Given the description of an element on the screen output the (x, y) to click on. 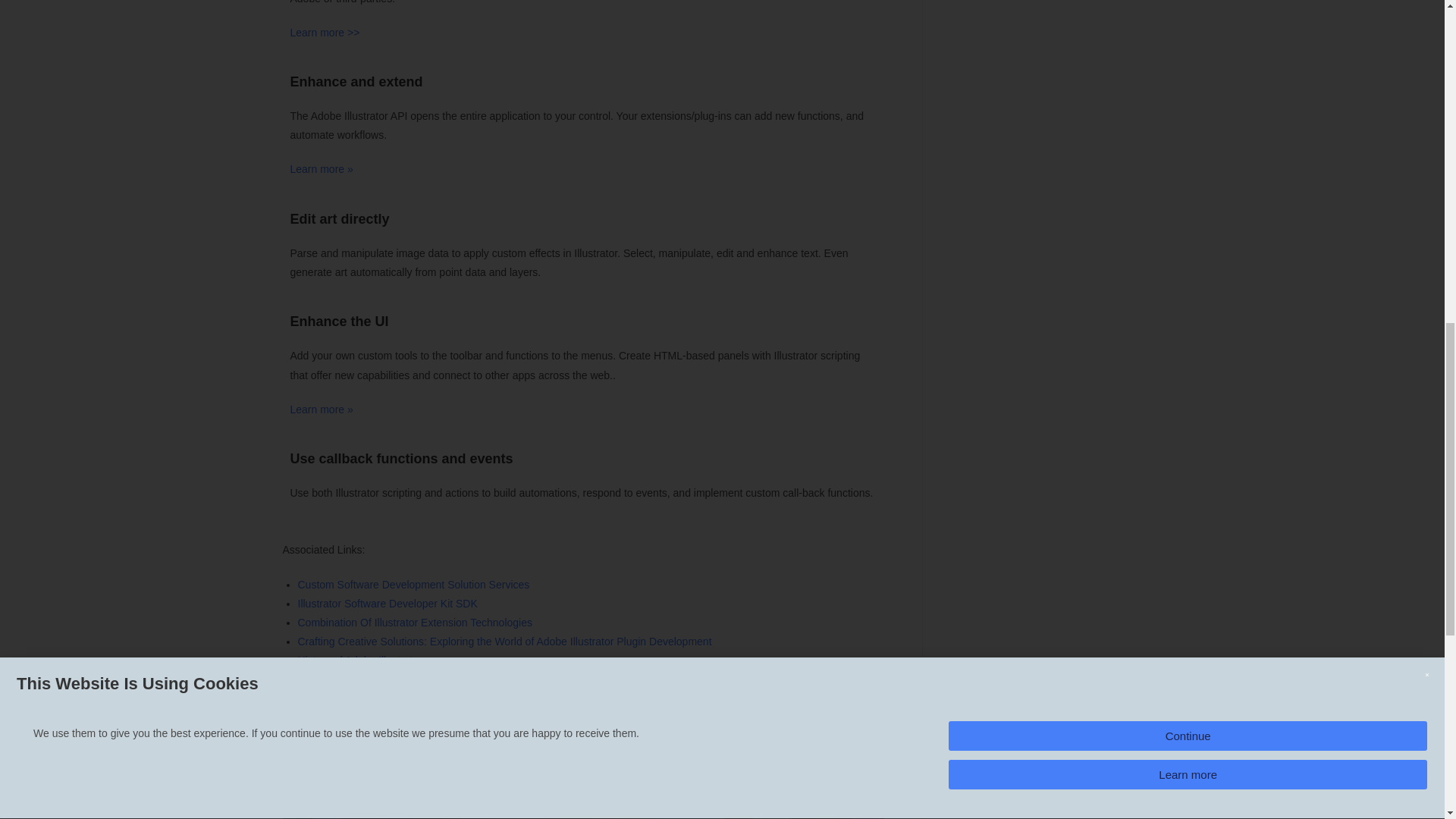
Custom Software Development Solution Services (413, 584)
Combining Illustrator Extension Technologies (320, 168)
Combination Of Illustrator Extension Technologies (414, 622)
Illustrator Software Developer Kit SDK (387, 603)
History of Adobe Illustrator (359, 660)
